Given the description of an element on the screen output the (x, y) to click on. 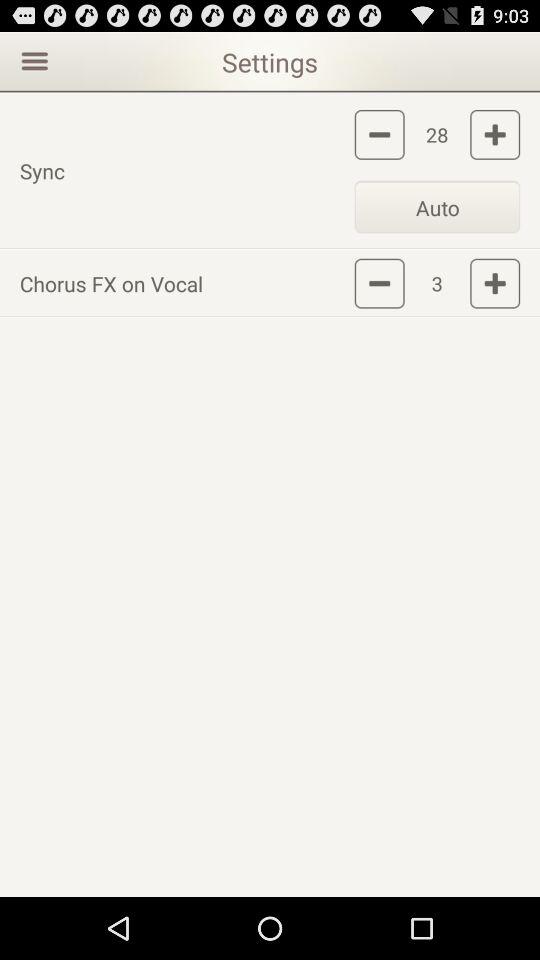
click app next to the sync icon (437, 206)
